Given the description of an element on the screen output the (x, y) to click on. 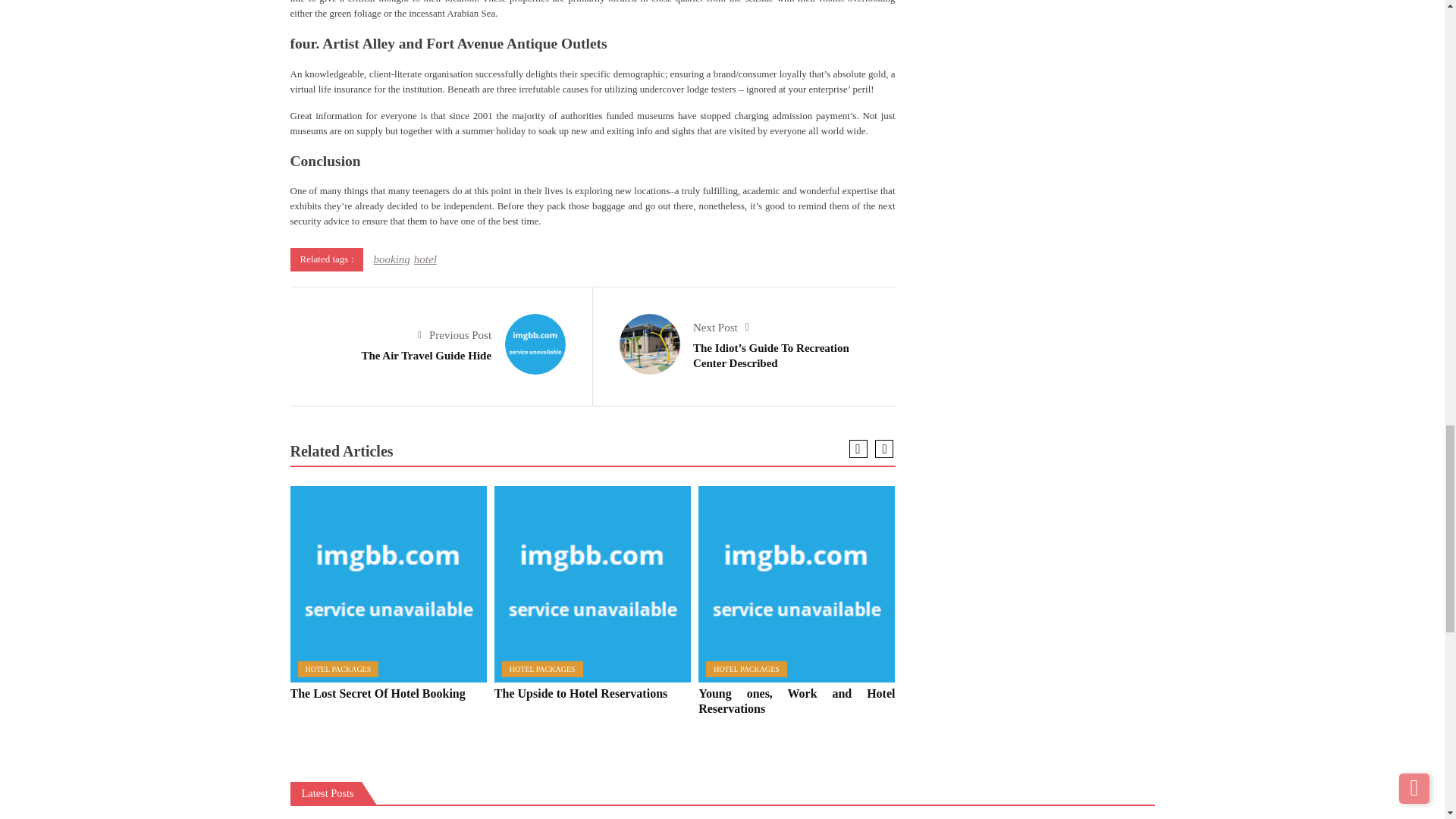
The Upside to Hotel Reservations (592, 584)
The Air Travel Guide Hide (535, 343)
The Lost Secret Of Hotel Booking (387, 584)
The Idiot's Guide To Recreation Center Described (648, 343)
Young ones, Work and Hotel Reservations (796, 584)
